Given the description of an element on the screen output the (x, y) to click on. 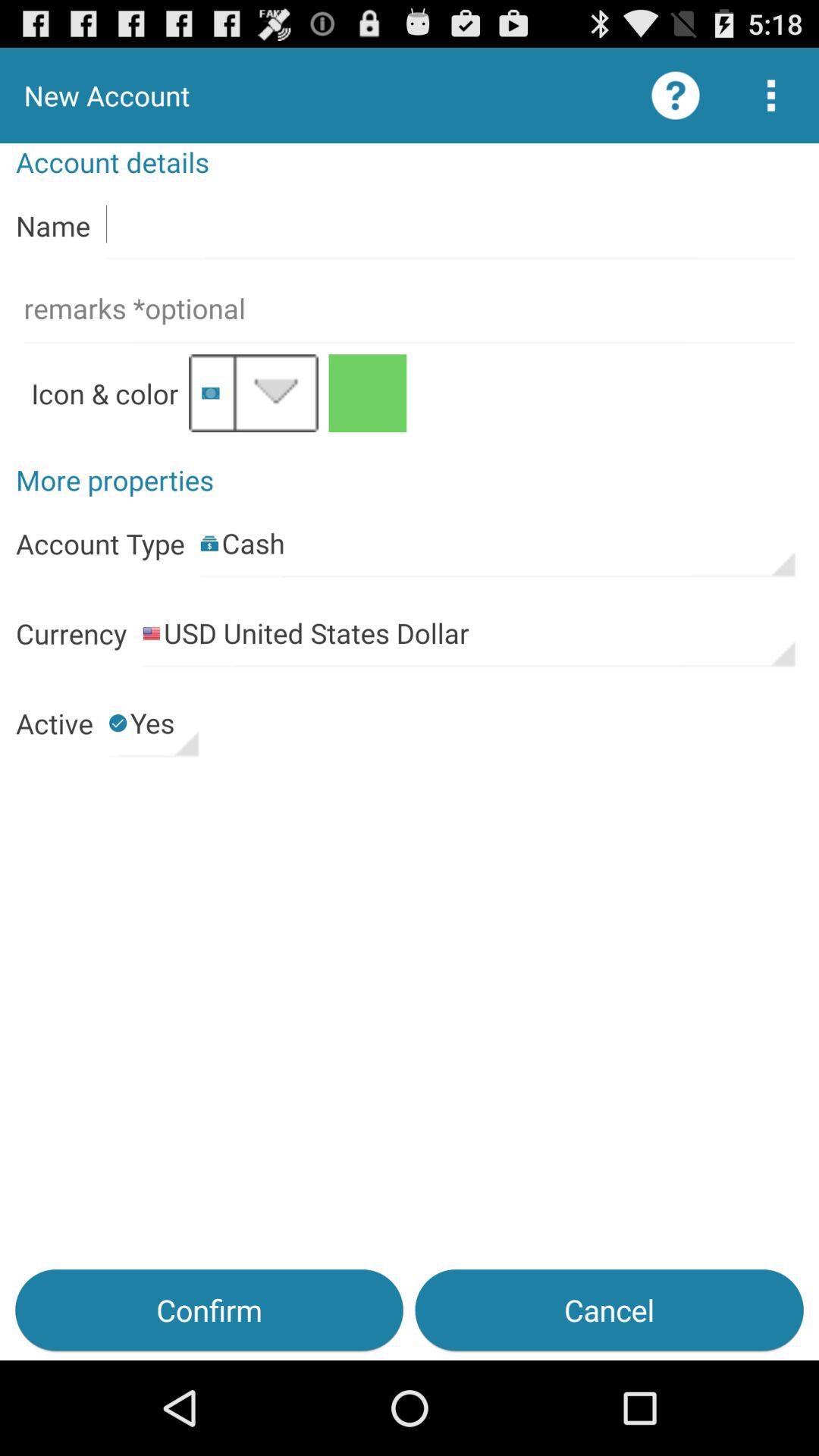
colorcode account (367, 393)
